Given the description of an element on the screen output the (x, y) to click on. 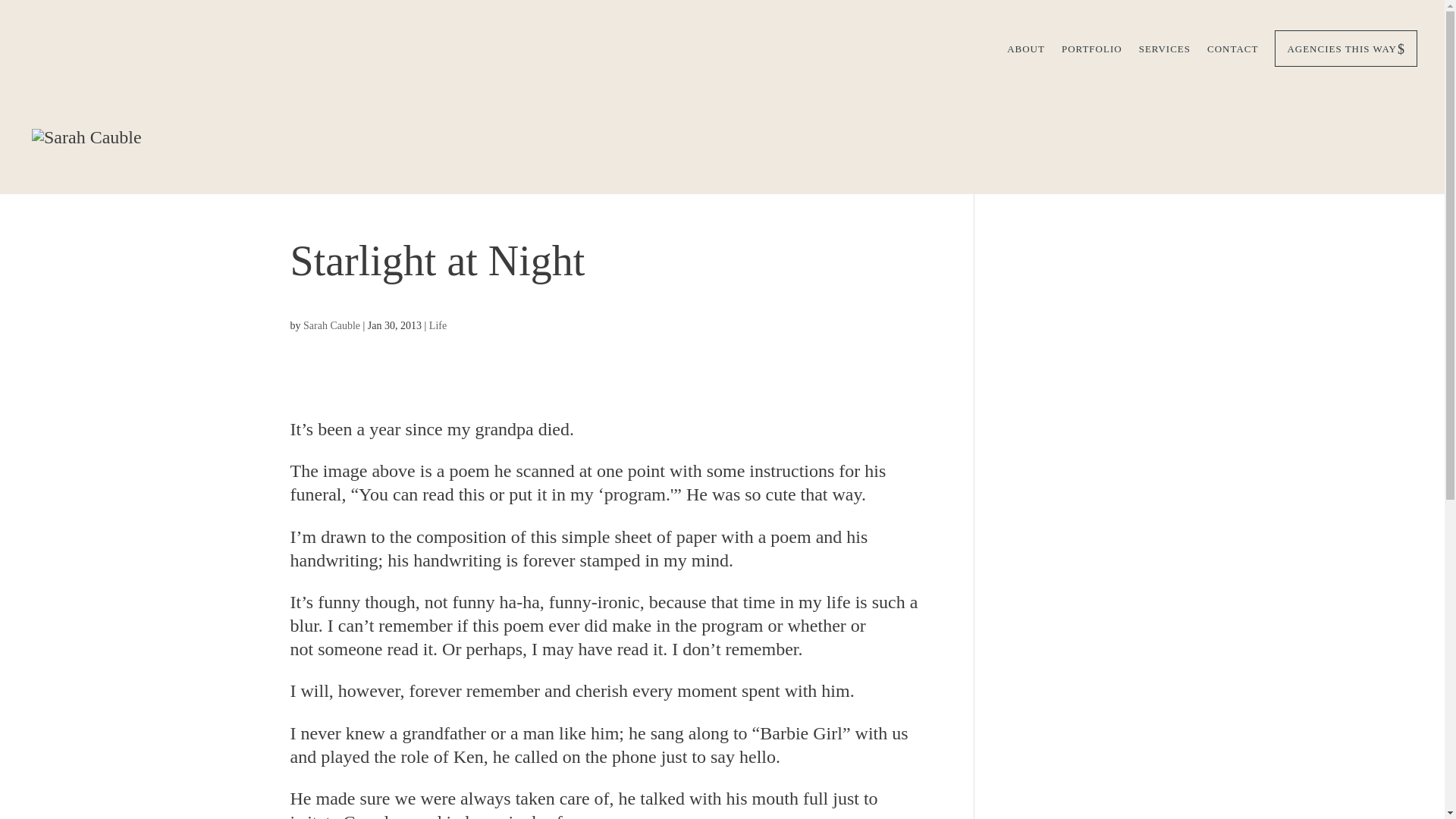
CONTACT (1232, 55)
Life (437, 325)
AGENCIES THIS WAY (1345, 48)
SERVICES (1164, 55)
Posts by Sarah Cauble (330, 325)
PORTFOLIO (1091, 55)
Sarah Cauble (330, 325)
ABOUT (1026, 55)
